Given the description of an element on the screen output the (x, y) to click on. 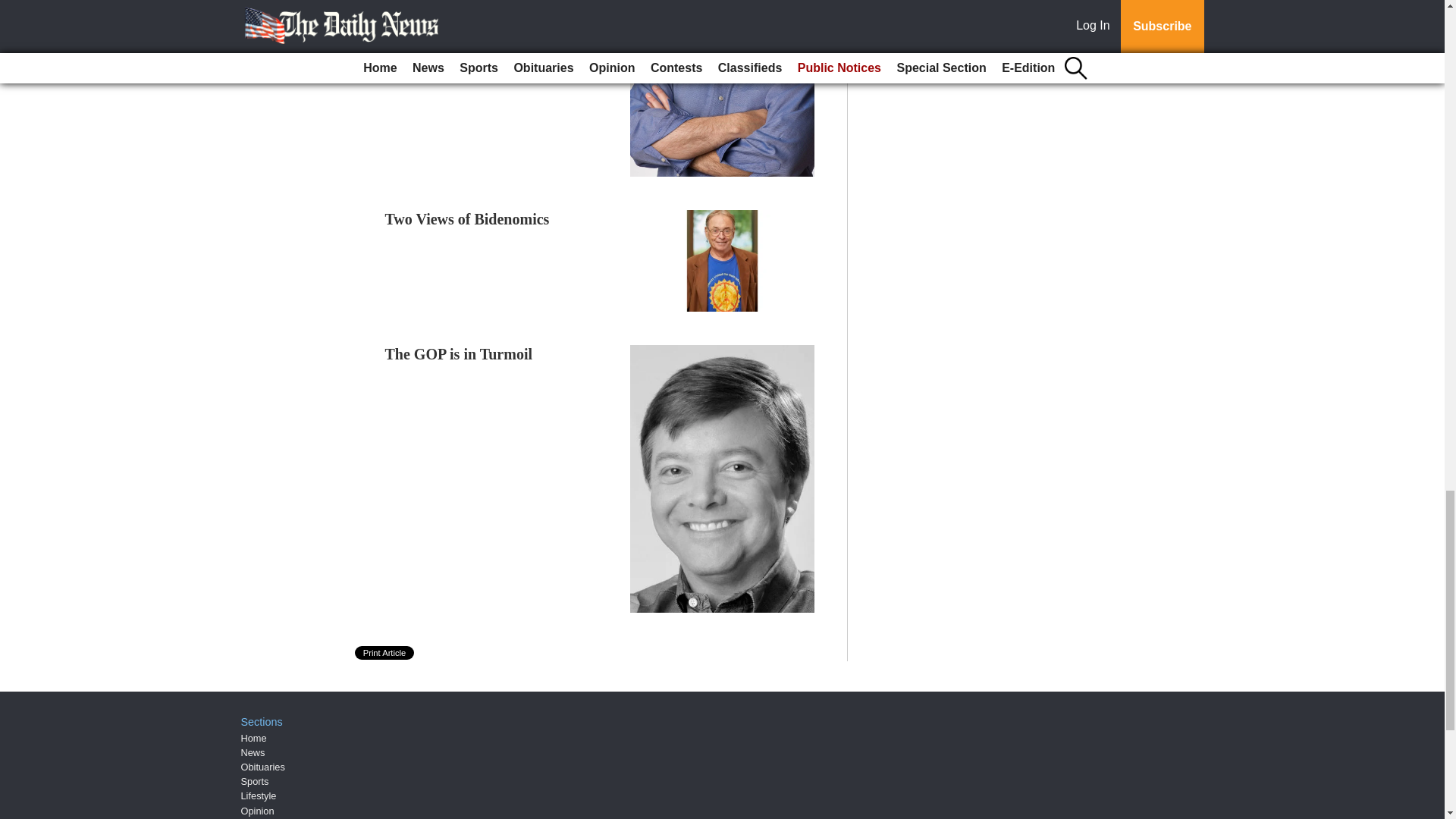
Home (253, 737)
Print Article (384, 653)
Lifestyle (258, 795)
News (252, 752)
Two Views of Bidenomics (467, 218)
The GOP is in Turmoil (458, 353)
Opinion (258, 810)
Obituaries (263, 767)
The GOP is in Turmoil (458, 353)
Two Views of Bidenomics (467, 218)
Sports (255, 781)
